Given the description of an element on the screen output the (x, y) to click on. 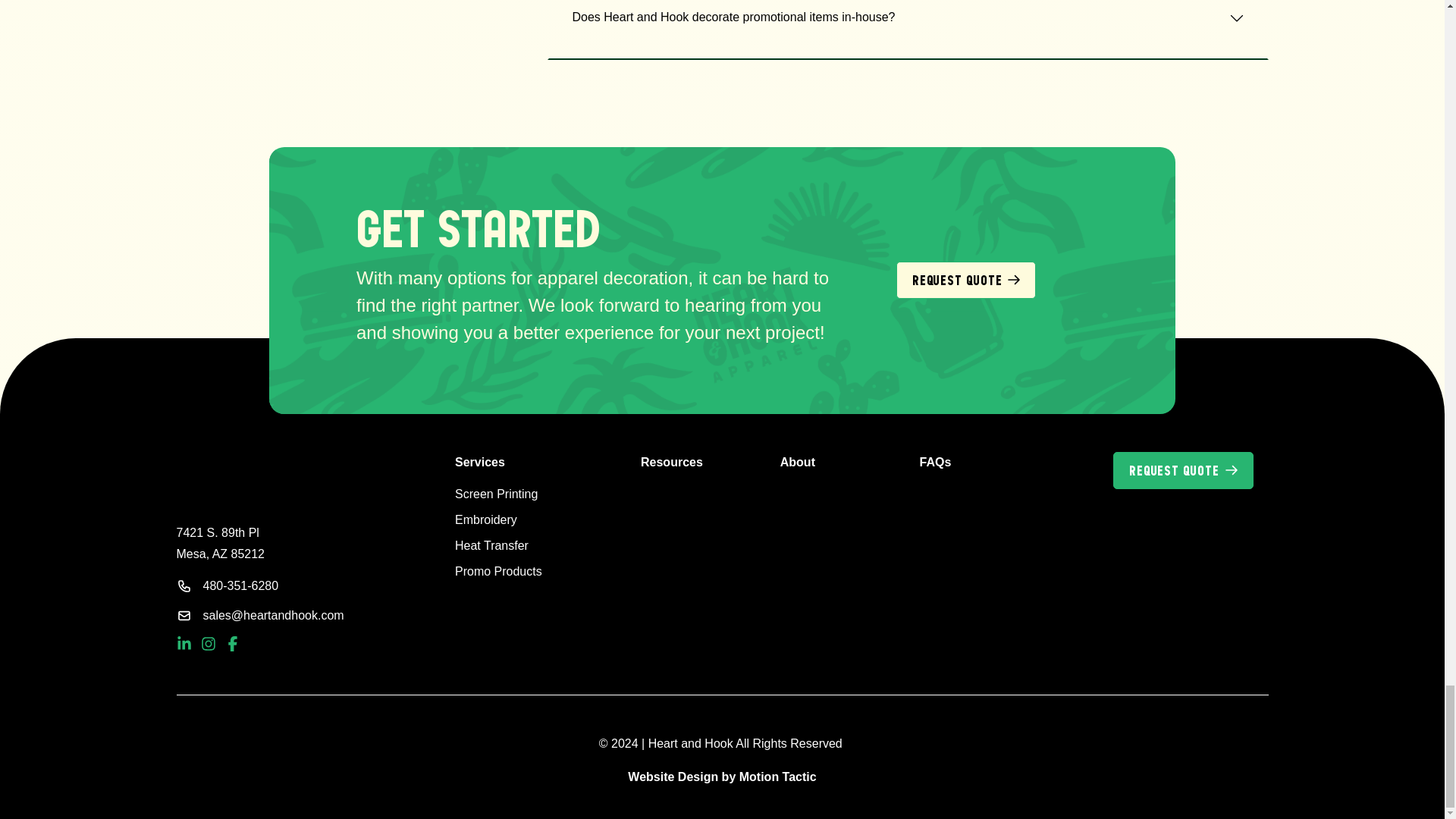
Screen Printing (535, 494)
social link (184, 646)
REQUEST QUOTE (966, 279)
480-351-6280 (285, 586)
Promo Products (535, 571)
social link (232, 646)
social link (209, 646)
Embroidery (535, 520)
Heat Transfer (535, 546)
Resources (671, 461)
